Given the description of an element on the screen output the (x, y) to click on. 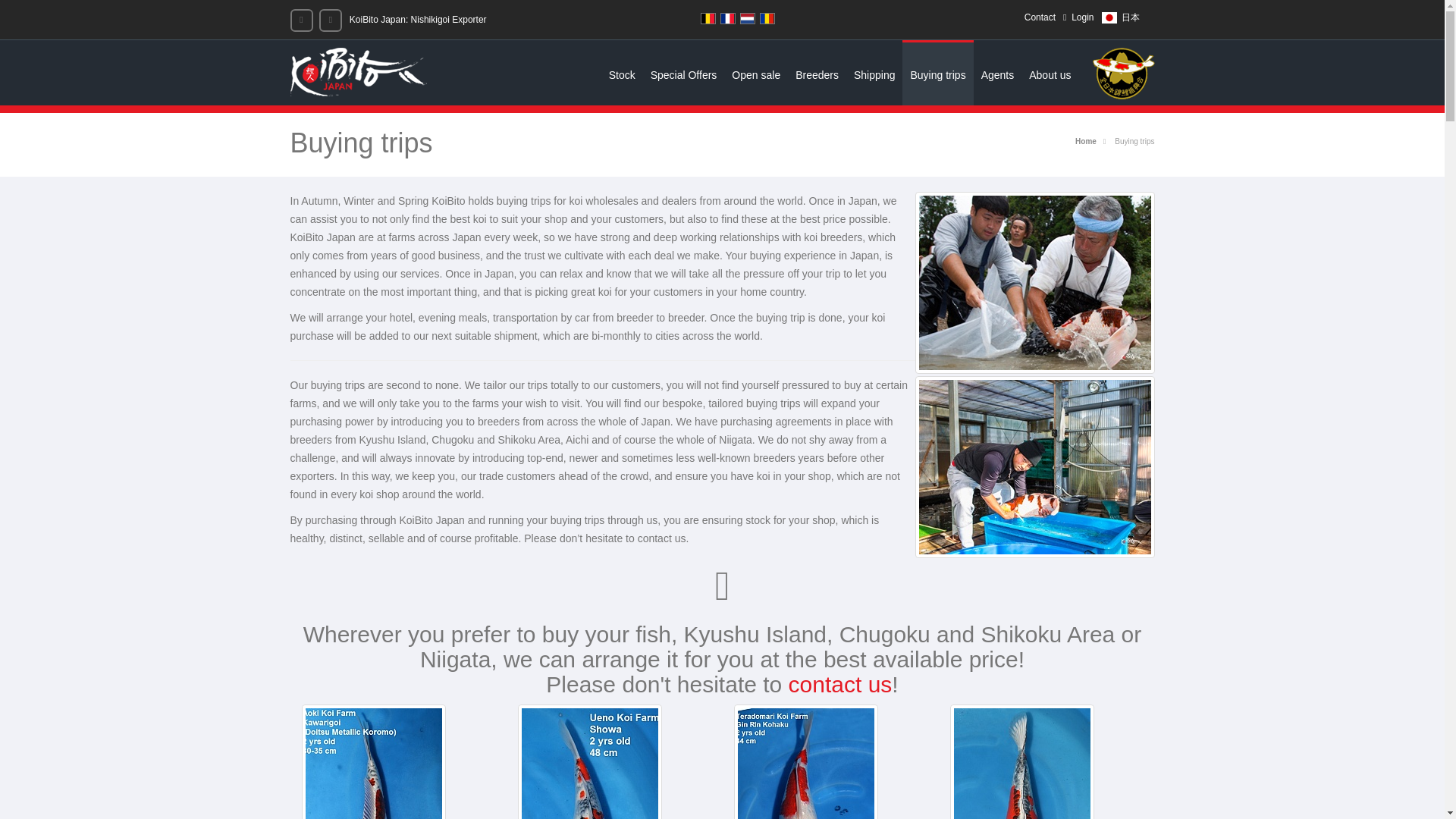
Special Offers (684, 72)
Home (1085, 141)
Koibito (357, 71)
  Login (1077, 17)
All Japan Shinkokai (1116, 72)
Contact (1040, 17)
Open sale (755, 72)
Breeders (816, 72)
contact us (840, 683)
Buying trips (937, 72)
contact us (840, 683)
